Given the description of an element on the screen output the (x, y) to click on. 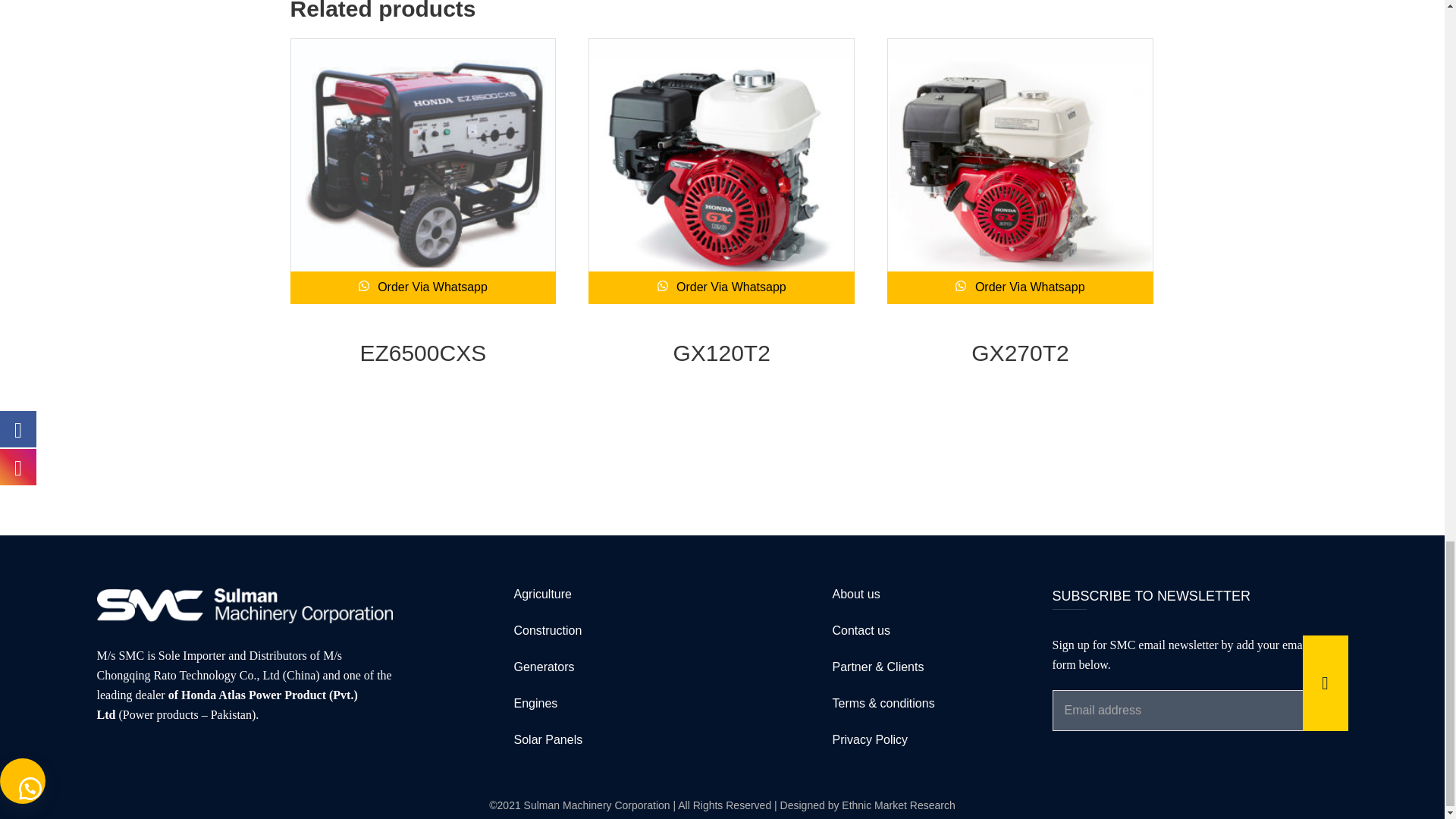
Complete order on WhatsApp to buy GX270T2 (1019, 287)
Complete order on WhatsApp to buy EZ6500CXS (422, 287)
Complete order on WhatsApp to buy GX120T2 (721, 287)
